Given the description of an element on the screen output the (x, y) to click on. 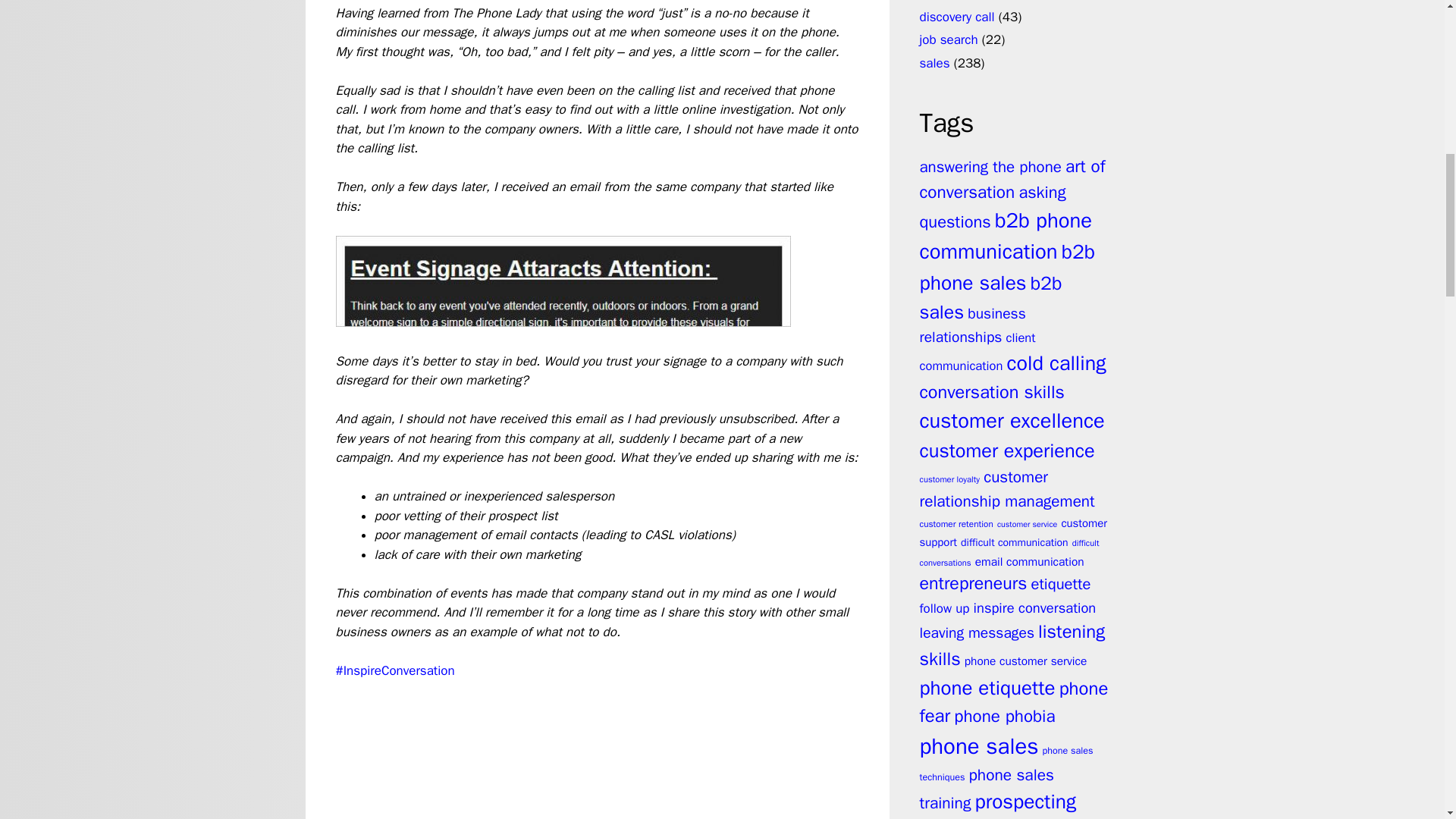
Scroll back to top (1406, 720)
